Given the description of an element on the screen output the (x, y) to click on. 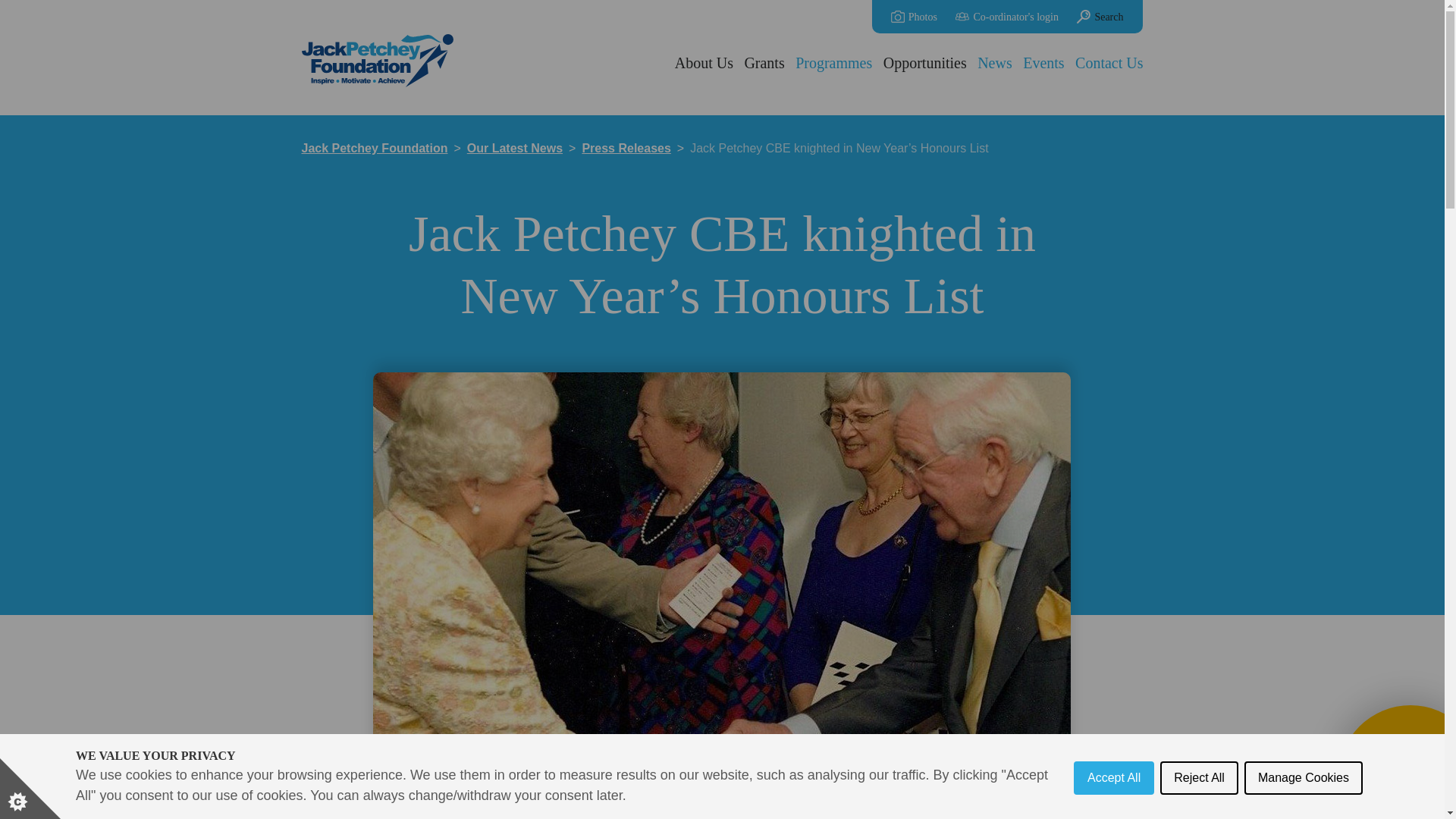
About Us (705, 62)
Manage Cookies (1303, 811)
Grants (763, 62)
Opportunities (925, 62)
Programmes (834, 62)
